Given the description of an element on the screen output the (x, y) to click on. 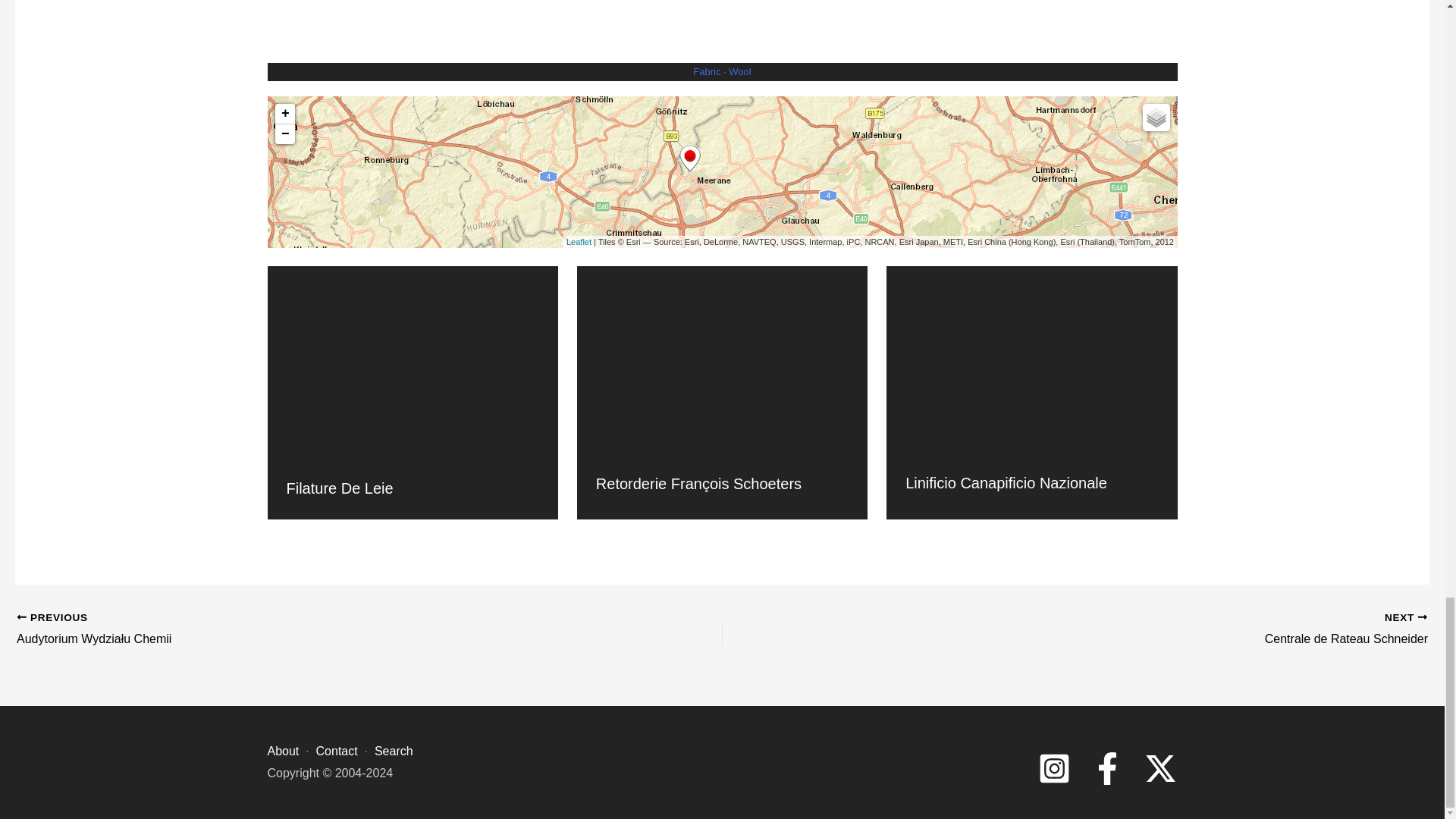
Centrale de Rateau Schneider (1144, 630)
